Given the description of an element on the screen output the (x, y) to click on. 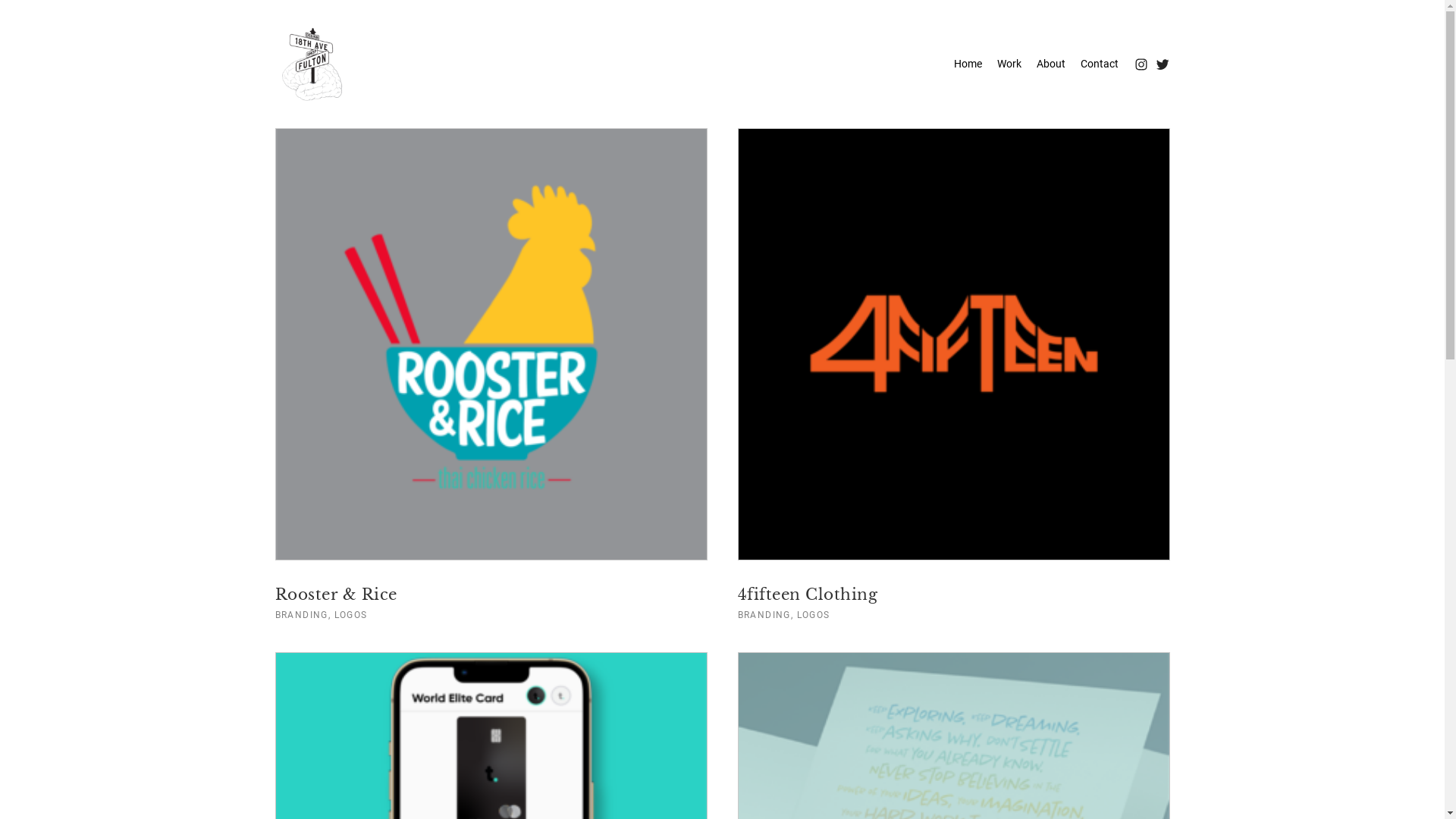
LOGOS Element type: text (350, 614)
4fifteen Clothing Element type: text (807, 594)
Work Element type: text (1008, 64)
Rooster & Rice Element type: text (335, 594)
Home Element type: text (967, 64)
About Element type: text (1049, 64)
Skip to content Element type: text (72, 11)
Contact Element type: text (1098, 64)
Twitter Element type: text (1161, 63)
Instagram Element type: text (1140, 63)
BRANDING Element type: text (763, 614)
LOGOS Element type: text (813, 614)
BRANDING Element type: text (300, 614)
